Given the description of an element on the screen output the (x, y) to click on. 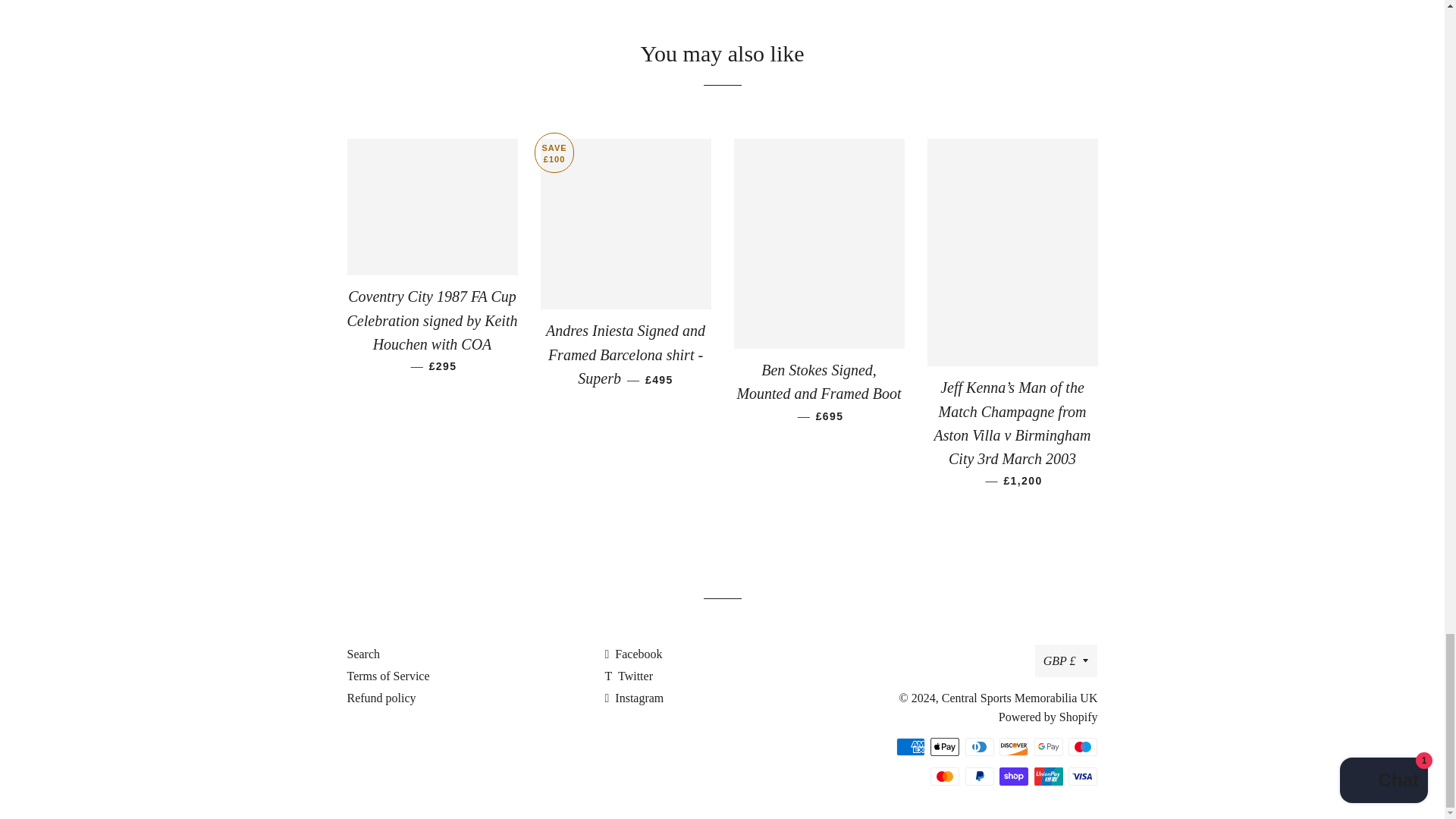
Central Sports Memorabilia UK on Instagram (633, 697)
Discover (1012, 746)
Mastercard (944, 776)
Maestro (1082, 746)
Shop Pay (1012, 776)
PayPal (979, 776)
Central Sports Memorabilia UK on Facebook (633, 653)
Diners Club (979, 746)
Union Pay (1047, 776)
Visa (1082, 776)
American Express (910, 746)
Google Pay (1047, 746)
Apple Pay (944, 746)
Central Sports Memorabilia UK on Twitter (628, 675)
